Given the description of an element on the screen output the (x, y) to click on. 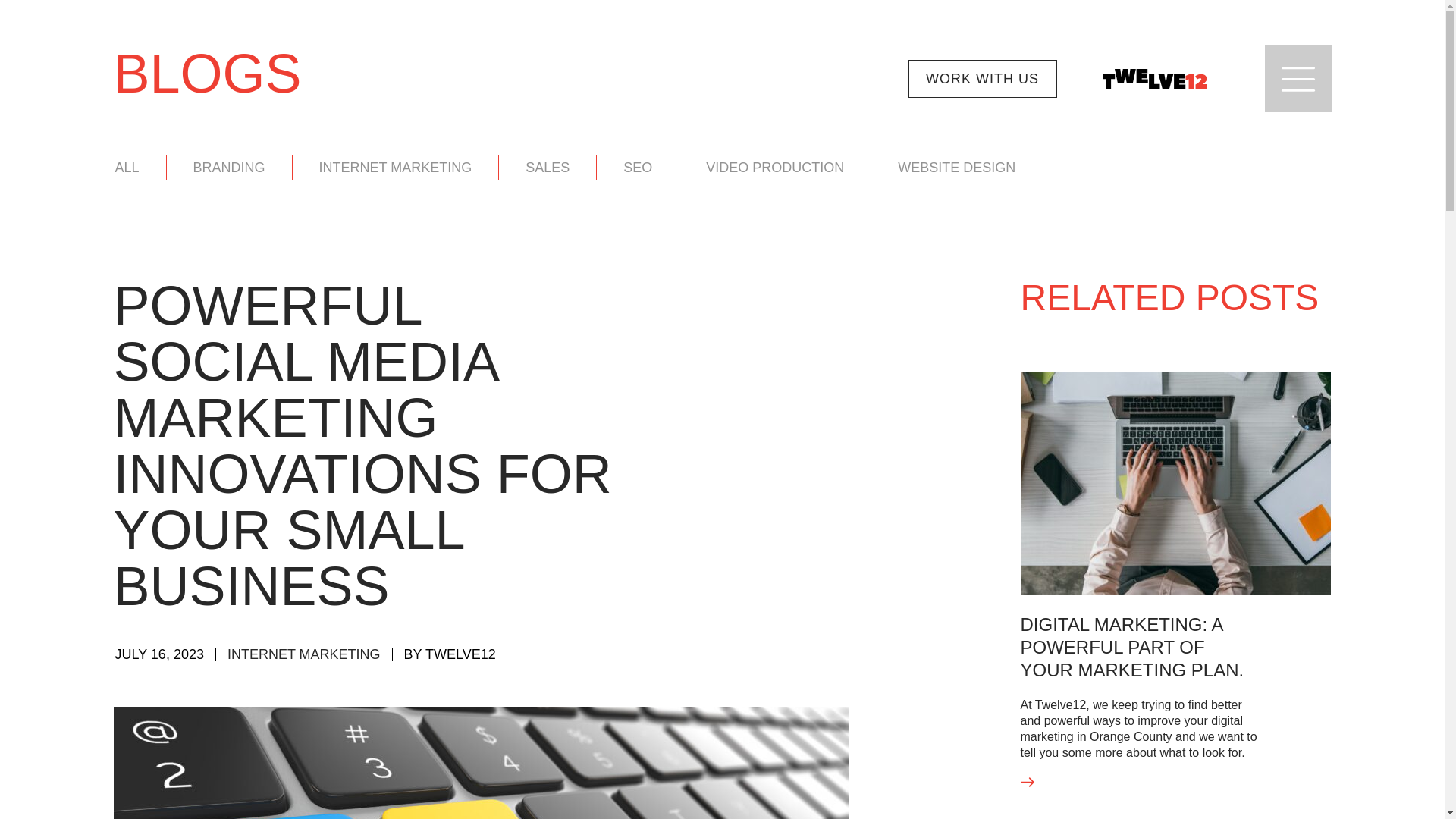
ALL (127, 167)
WEBSITE DESIGN (956, 167)
INTERNET MARKETING (303, 654)
BLOGS (722, 73)
BRANDING (228, 167)
INTERNET MARKETING (394, 167)
VIDEO PRODUCTION (775, 167)
SALES (547, 167)
SEO (637, 167)
WORK WITH US (982, 78)
Twelve12 (1154, 78)
